Given the description of an element on the screen output the (x, y) to click on. 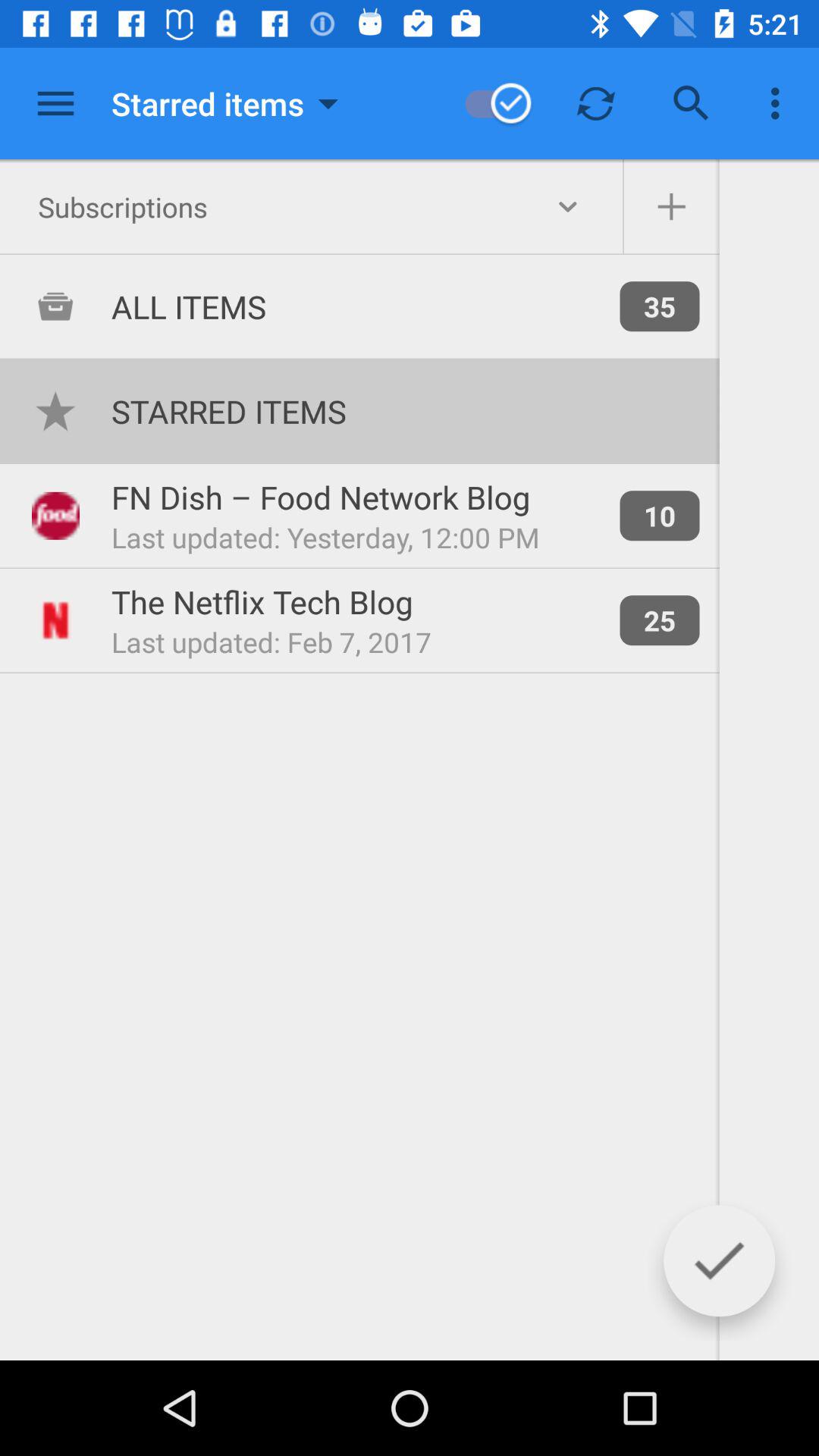
add subscriptions (671, 206)
